Given the description of an element on the screen output the (x, y) to click on. 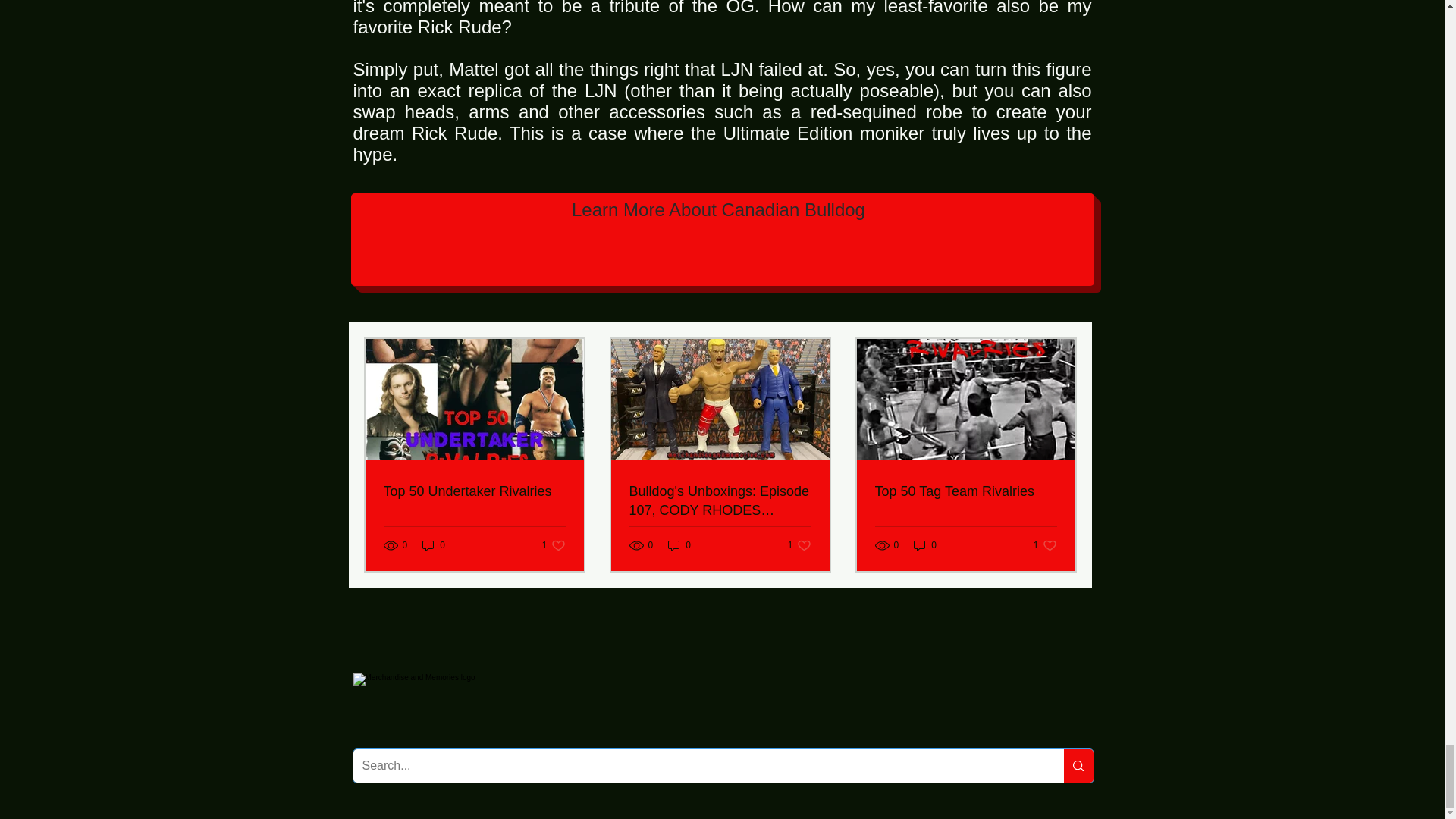
0 (433, 545)
0 (798, 545)
Top 50 Undertaker Rivalries (679, 545)
0 (553, 545)
Top 50 Tag Team Rivalries (475, 491)
Bulldog's Unboxings: Episode 107, CODY RHODES MEGASODE (924, 545)
